Given the description of an element on the screen output the (x, y) to click on. 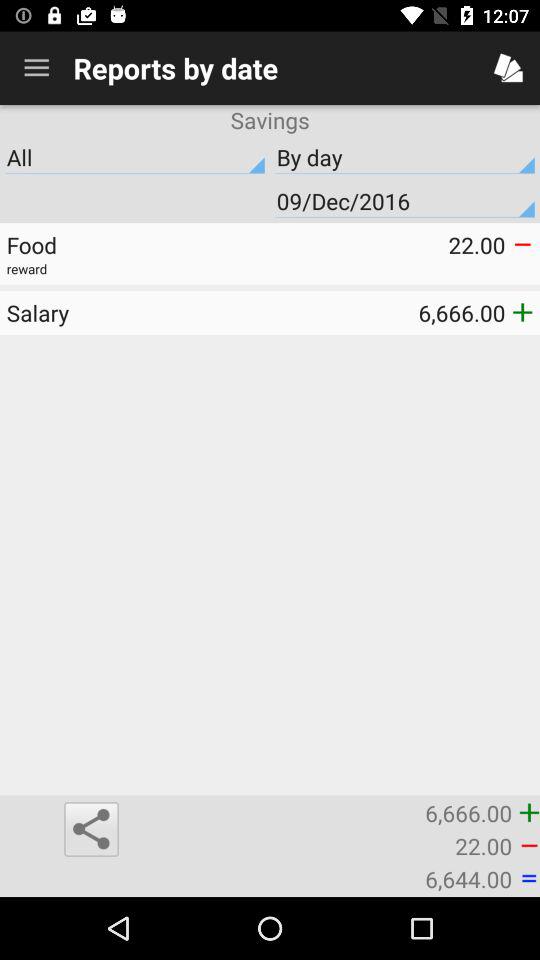
turn on icon above 09/dec/2016 (405, 157)
